Given the description of an element on the screen output the (x, y) to click on. 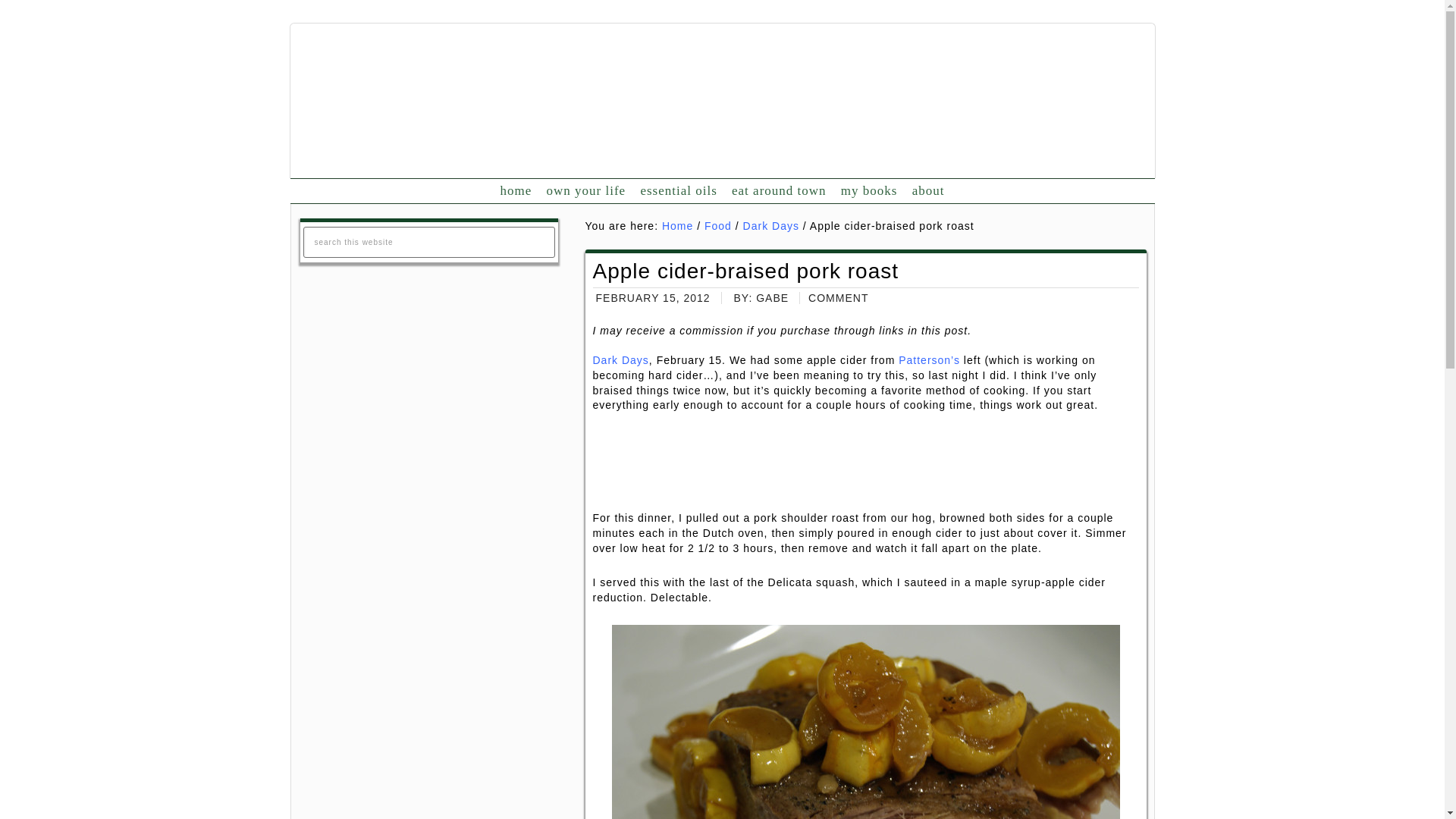
Dark Days (620, 359)
Home (677, 225)
eat around town (778, 191)
Food (718, 225)
essential oils (678, 191)
COMMENT (837, 297)
Dark Days (770, 225)
braisedpork (865, 721)
